Given the description of an element on the screen output the (x, y) to click on. 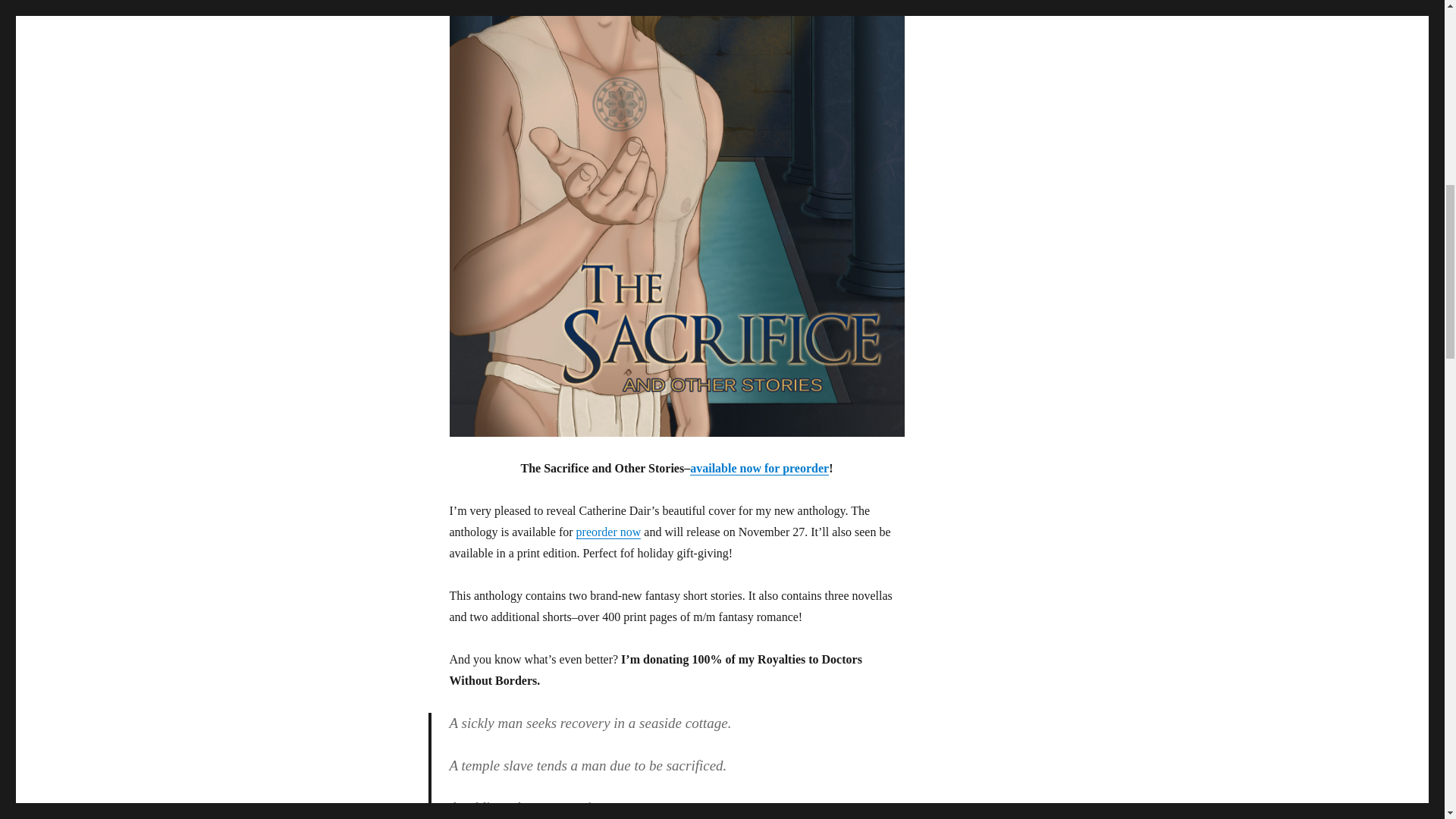
available now for preorder (759, 468)
preorder now (609, 531)
